Given the description of an element on the screen output the (x, y) to click on. 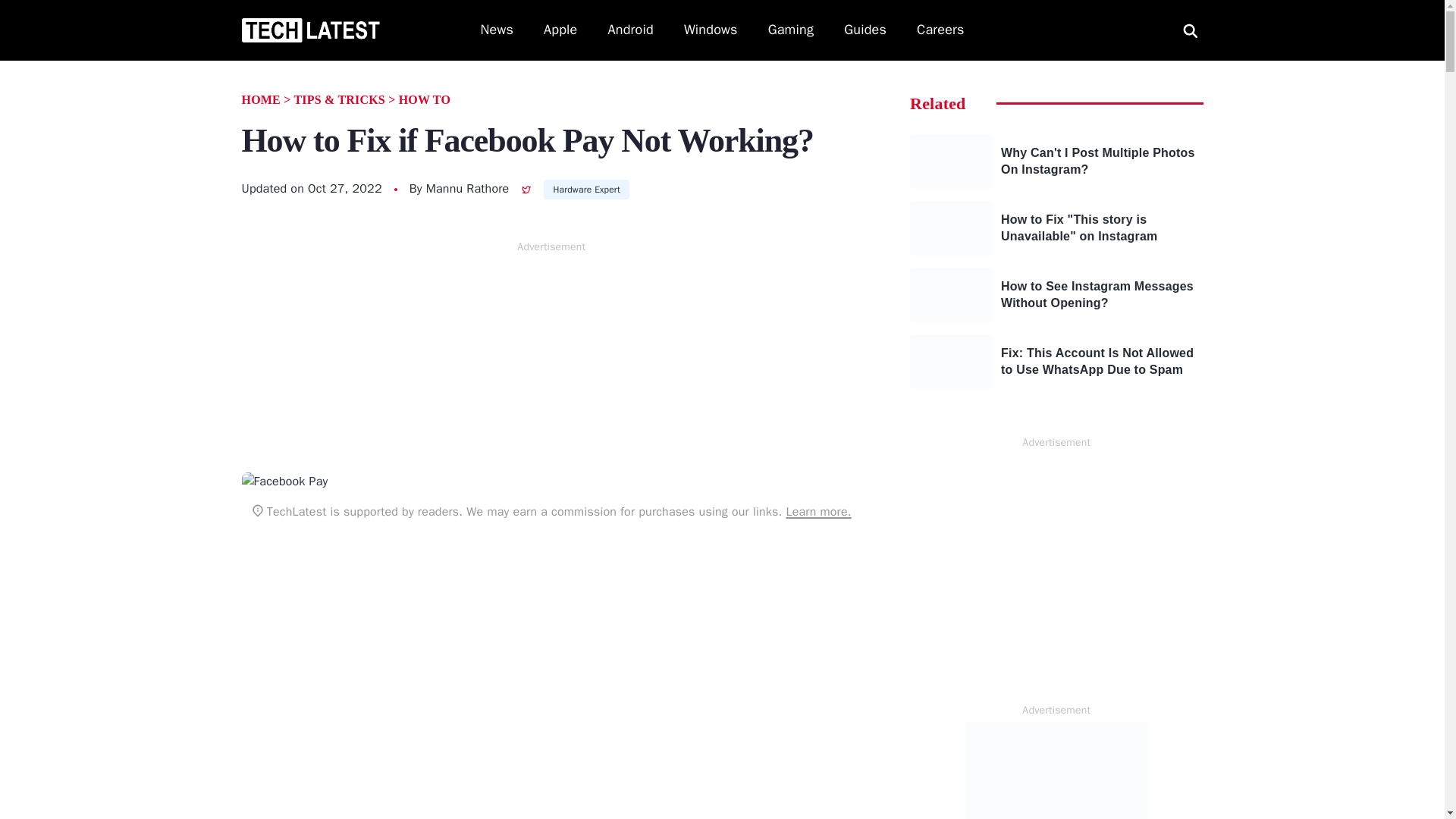
Mannu Rathore (467, 188)
HOW TO (423, 99)
Apple (560, 30)
News (496, 30)
Android (630, 30)
Guides (865, 30)
Careers (940, 30)
HOME (260, 99)
Gaming (790, 30)
Search (29, 11)
Windows (711, 30)
Learn more. (818, 511)
Search for: (1189, 29)
